Given the description of an element on the screen output the (x, y) to click on. 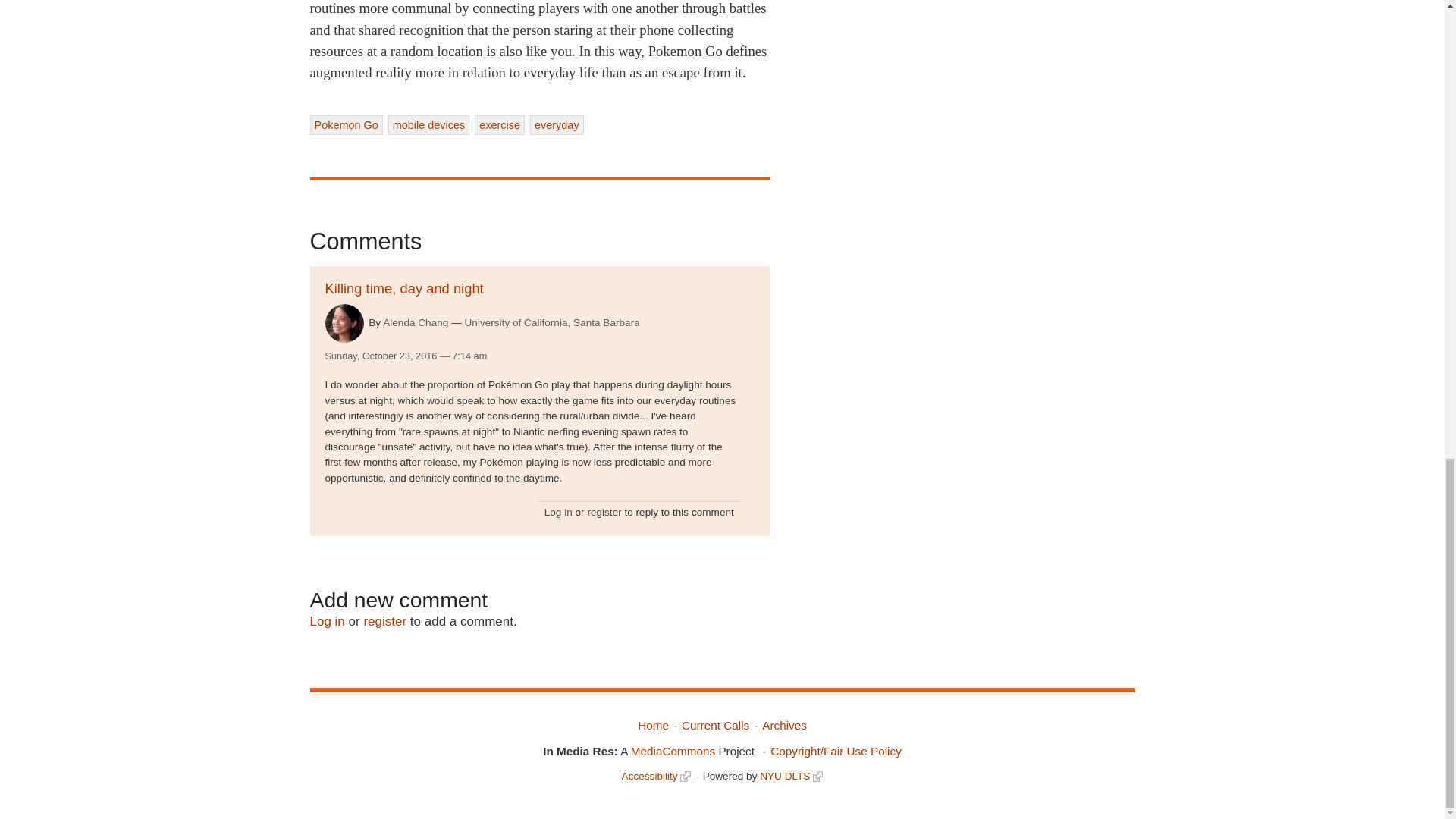
Alenda Chang (415, 322)
View user profile. (343, 323)
Log in (558, 511)
register (384, 621)
exercise (499, 125)
everyday (556, 125)
register (603, 511)
Pokemon Go (344, 125)
Killing time, day and night (403, 288)
University of California, Santa Barbara (552, 322)
Log in (325, 621)
User profile: Alenda Chang (415, 322)
University of California, Santa Barbara (552, 322)
mobile devices (429, 125)
